Given the description of an element on the screen output the (x, y) to click on. 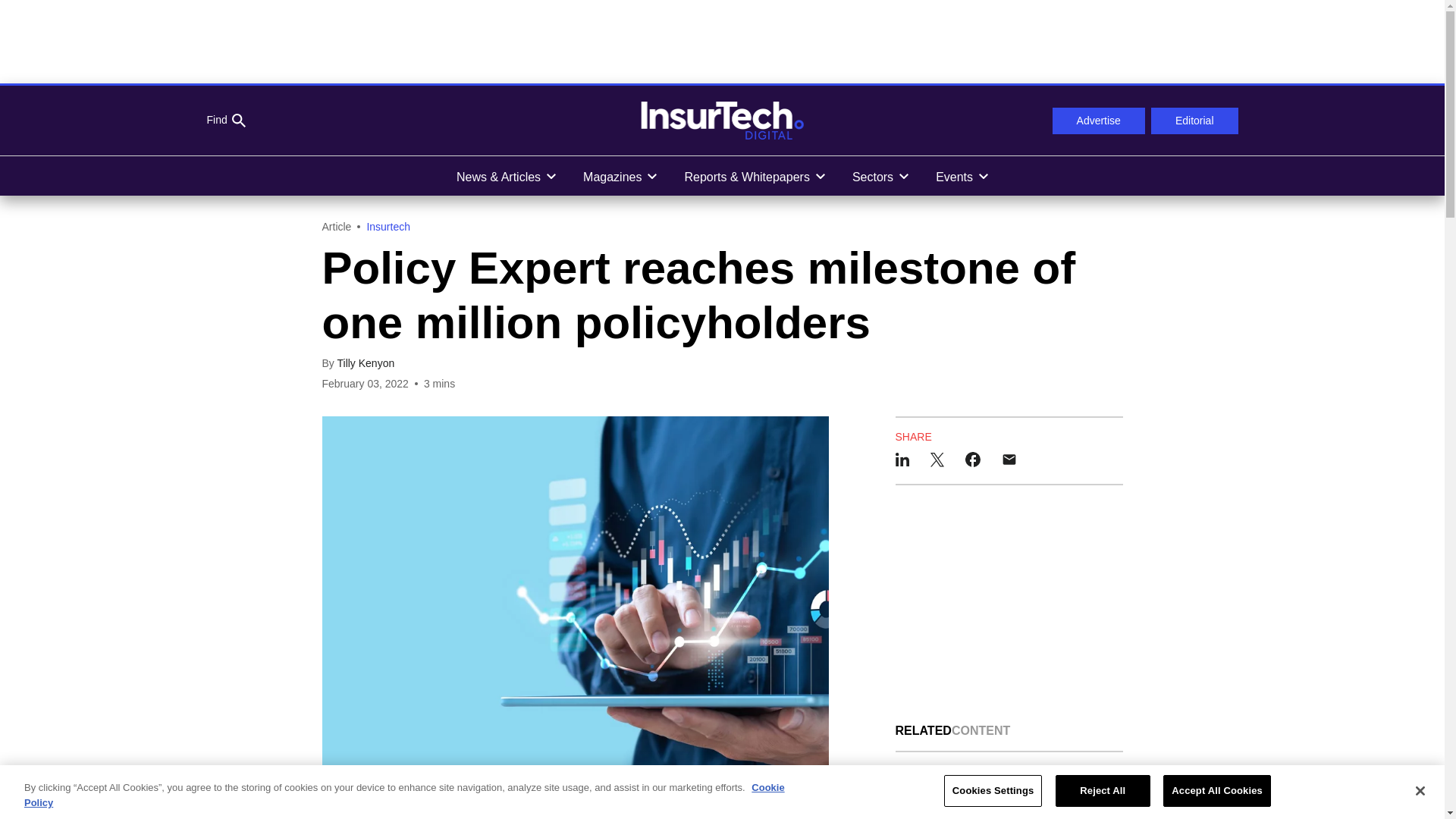
Sectors (879, 175)
3rd party ad content (1008, 604)
Events (961, 175)
Magazines (619, 175)
Advertise (1098, 121)
3rd party ad content (721, 41)
Editorial (1195, 121)
Find (225, 120)
